Given the description of an element on the screen output the (x, y) to click on. 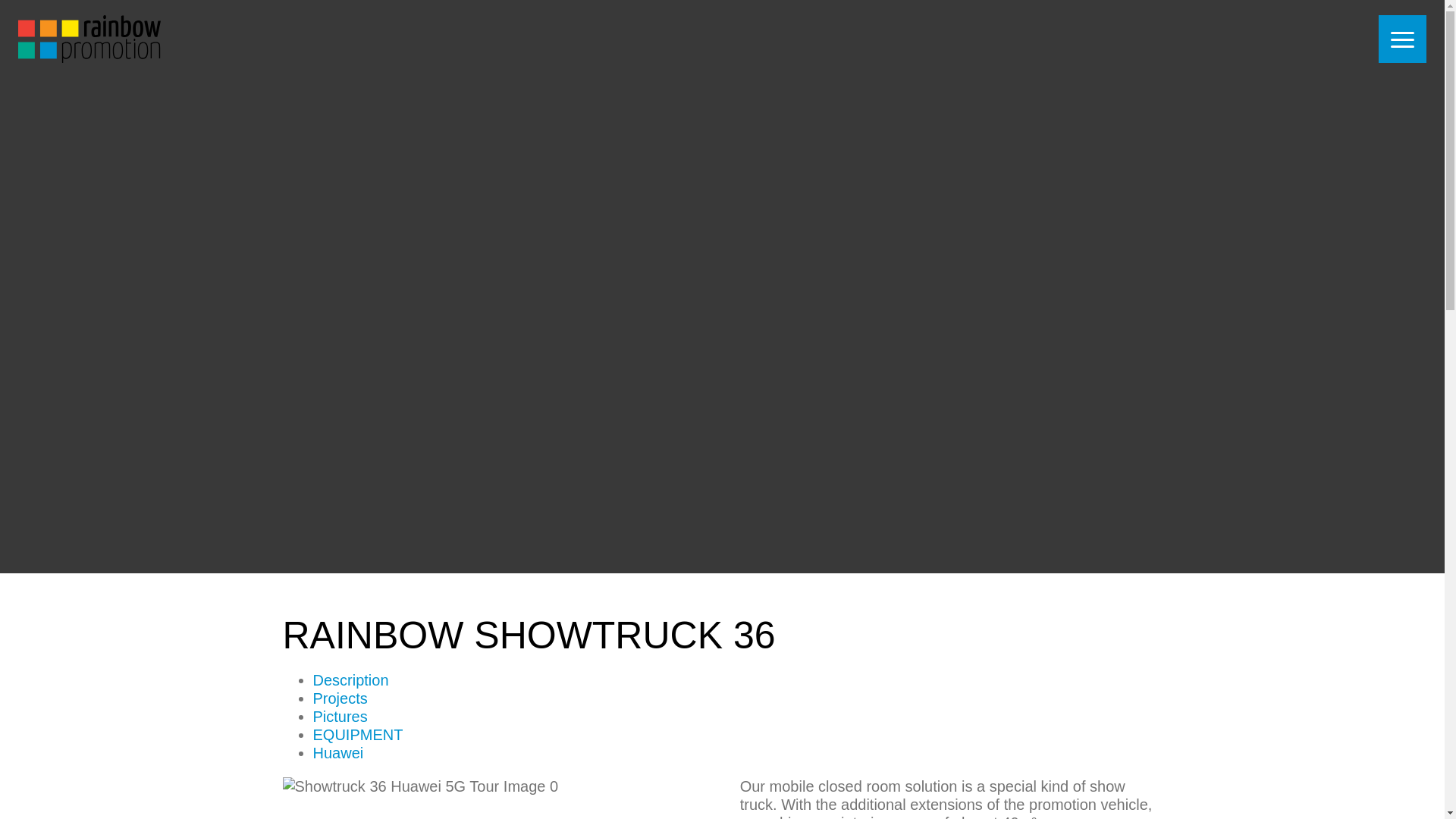
EQUIPMENT (358, 734)
Huawei (337, 752)
Description (350, 679)
Showtruck 36 Huawei 5G Tour (493, 797)
Projects (339, 698)
Pictures (339, 716)
